Given the description of an element on the screen output the (x, y) to click on. 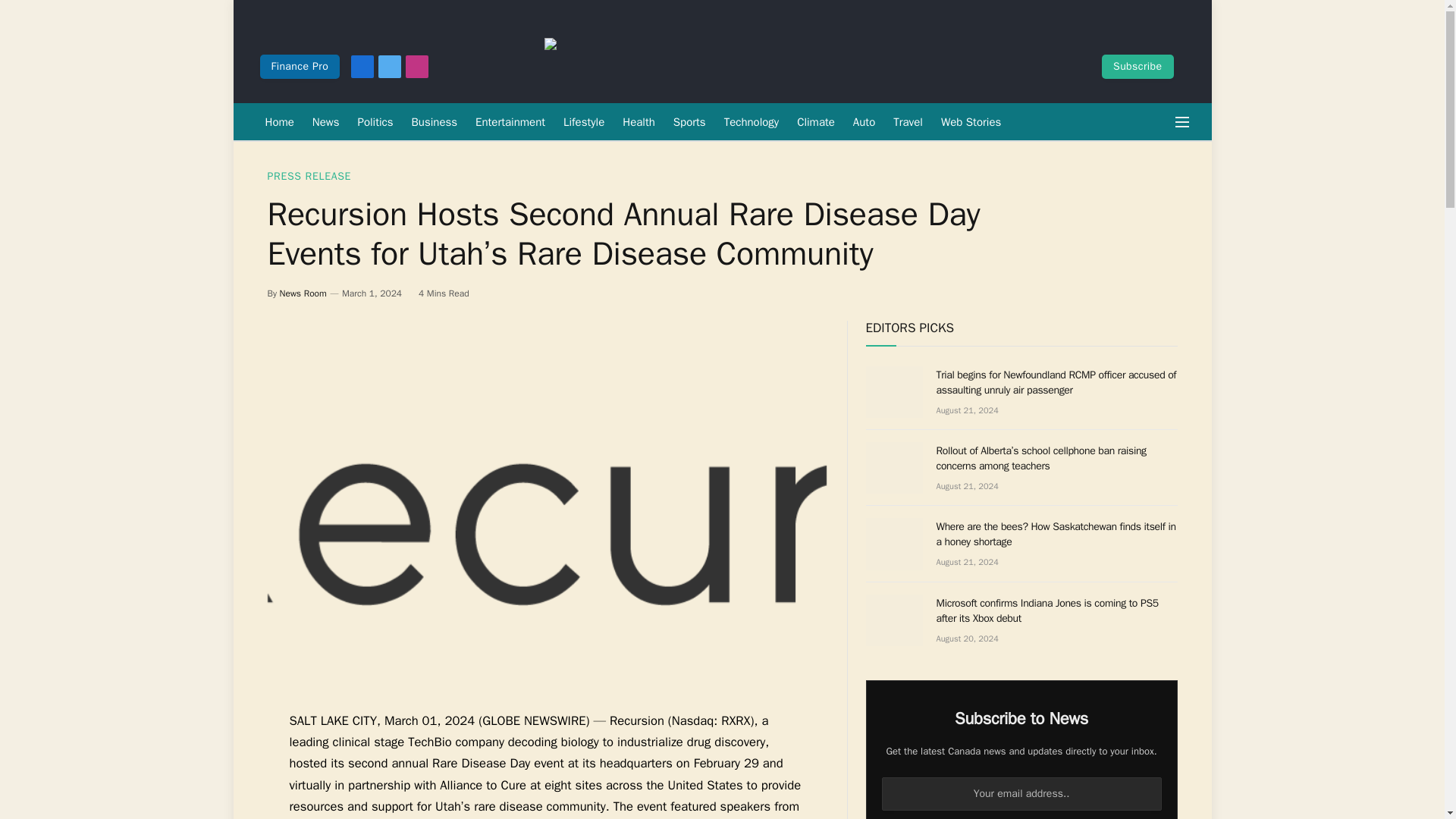
Facebook (362, 66)
Politics (376, 121)
News (325, 121)
Instagram (417, 66)
Health (637, 121)
Posts by News Room (302, 293)
Subscribe (1137, 66)
Daily Guardian (770, 66)
Finance Pro (299, 66)
Lifestyle (583, 121)
